Given the description of an element on the screen output the (x, y) to click on. 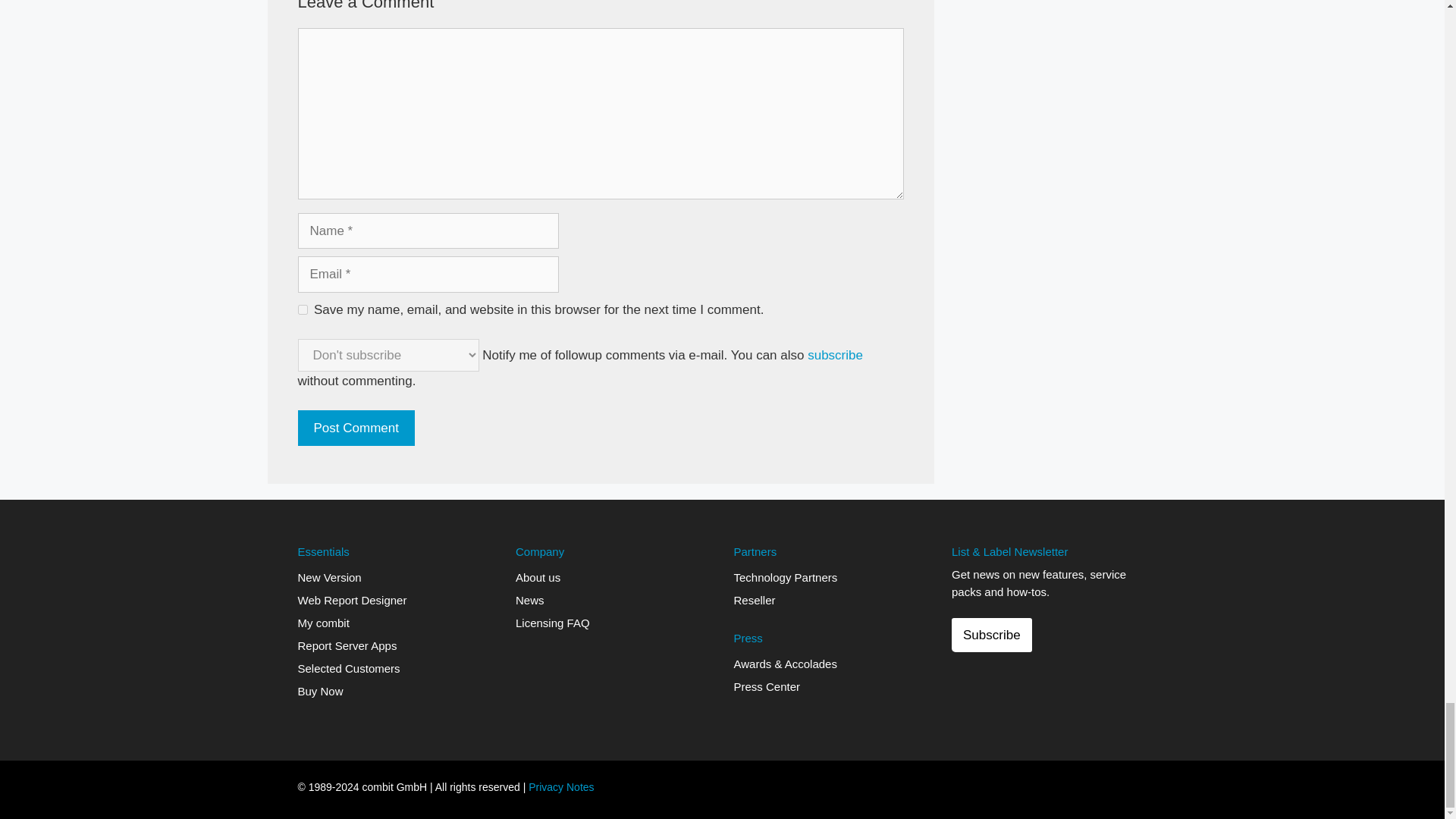
Post Comment (355, 428)
yes (302, 309)
